Given the description of an element on the screen output the (x, y) to click on. 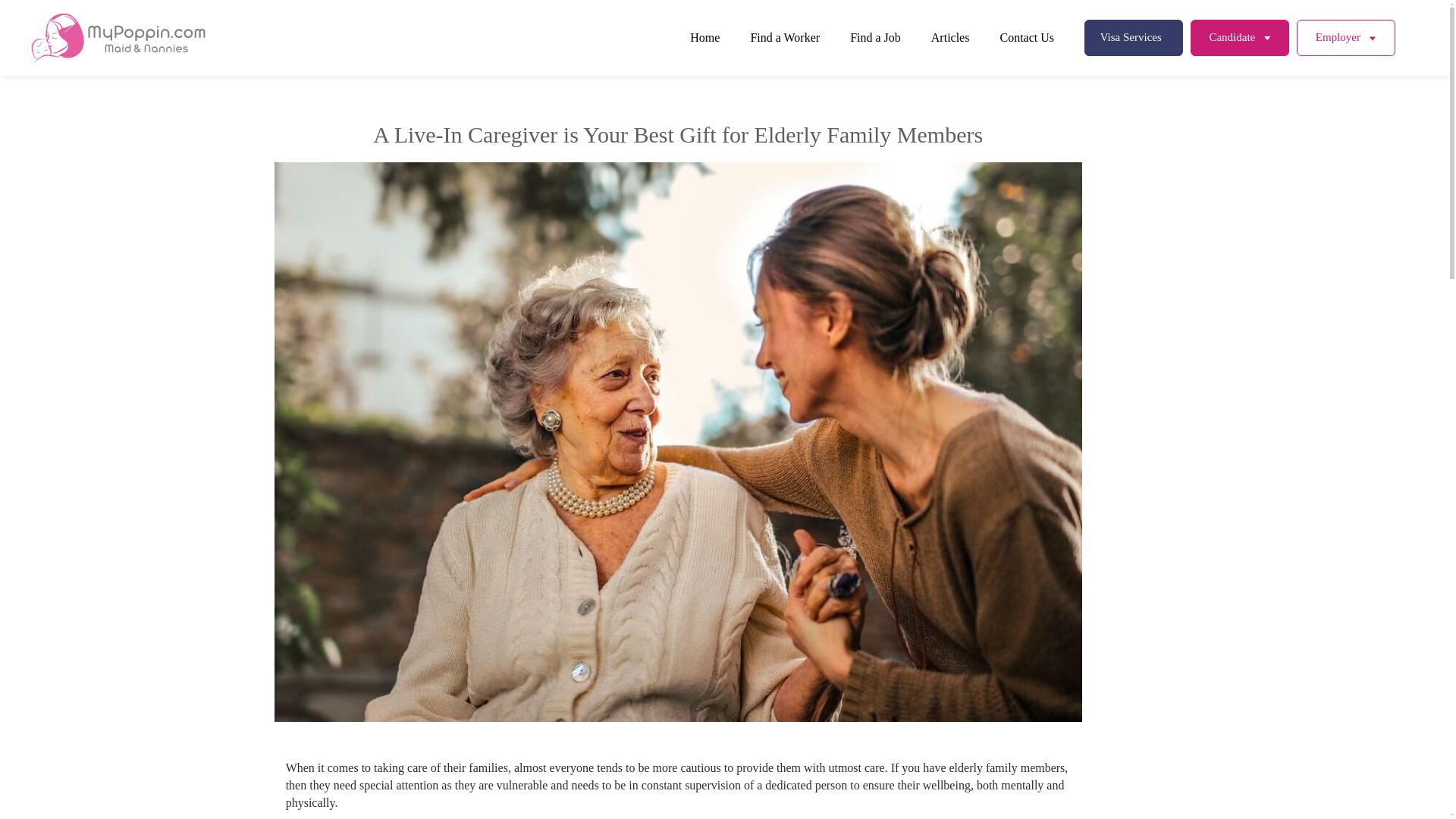
Find a Worker (784, 37)
Visa Services   (1133, 37)
Employer   (1345, 37)
Contact Us (1026, 37)
Home (704, 37)
Articles (950, 37)
Find a Job (875, 37)
Candidate   (1239, 37)
